Given the description of an element on the screen output the (x, y) to click on. 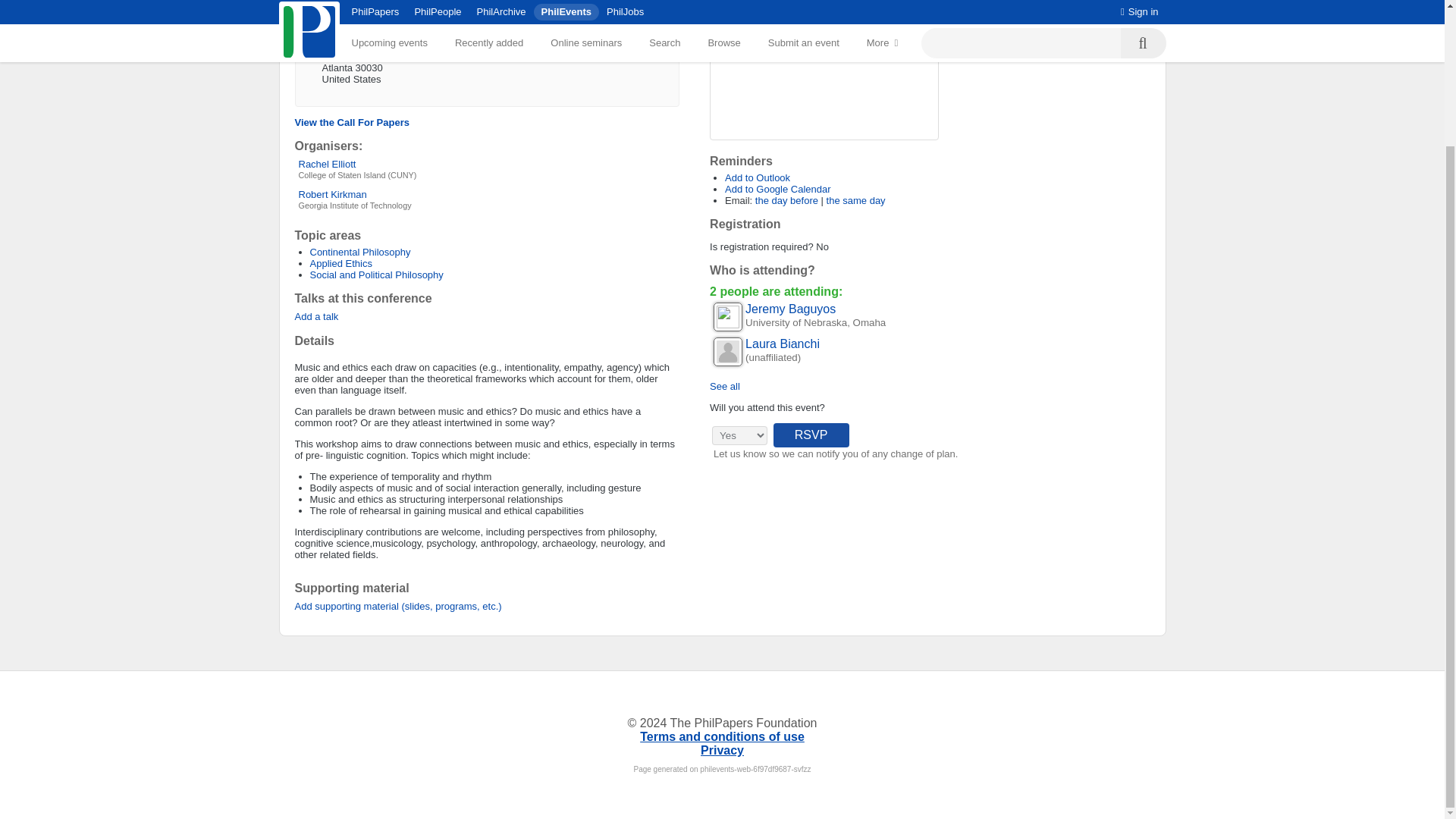
Robert Kirkman (332, 194)
View the Call For Papers (351, 122)
Rachel Elliott (327, 163)
RSVP (810, 435)
